Given the description of an element on the screen output the (x, y) to click on. 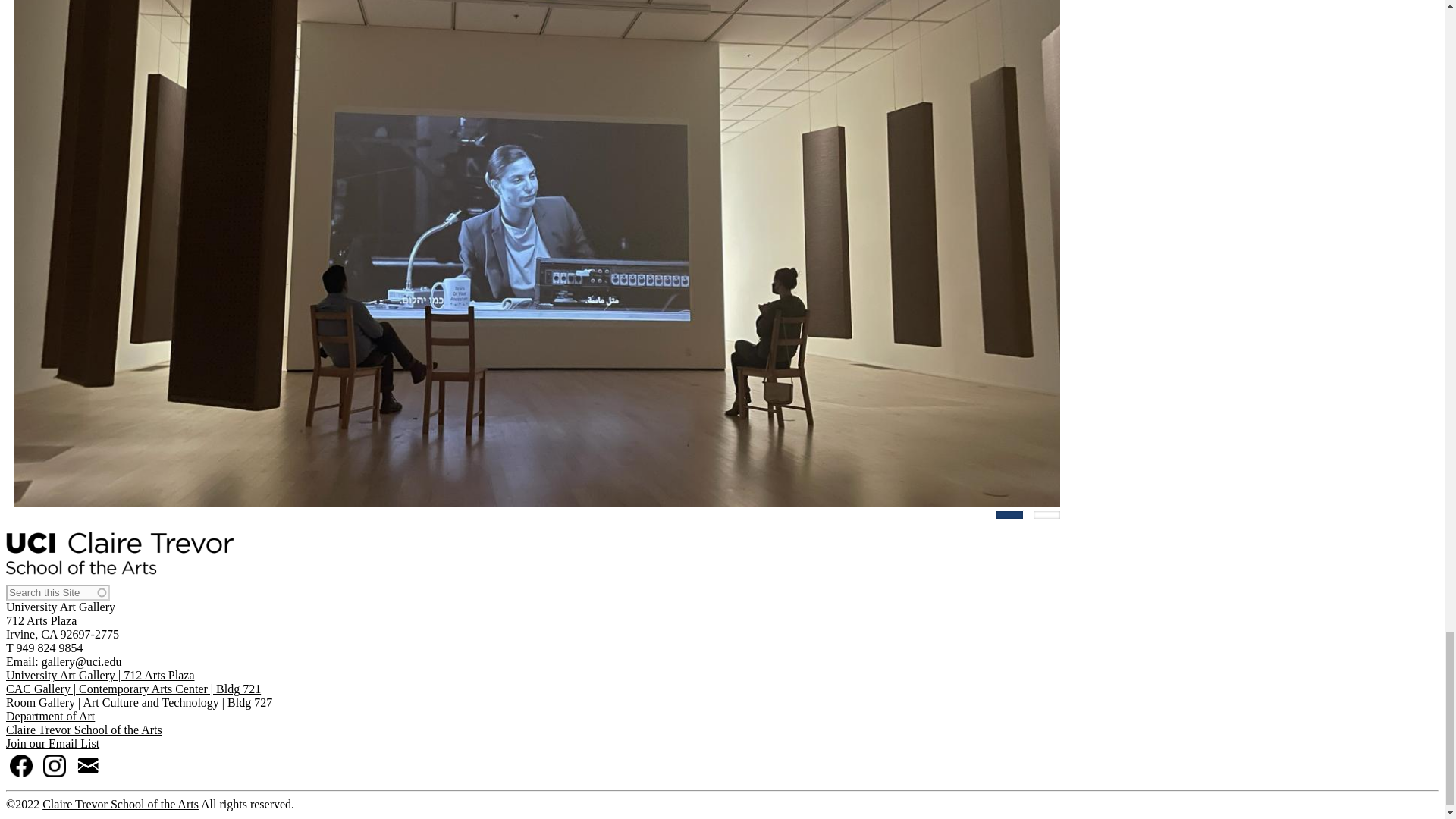
Enter the terms you wish to search for. (57, 592)
